Given the description of an element on the screen output the (x, y) to click on. 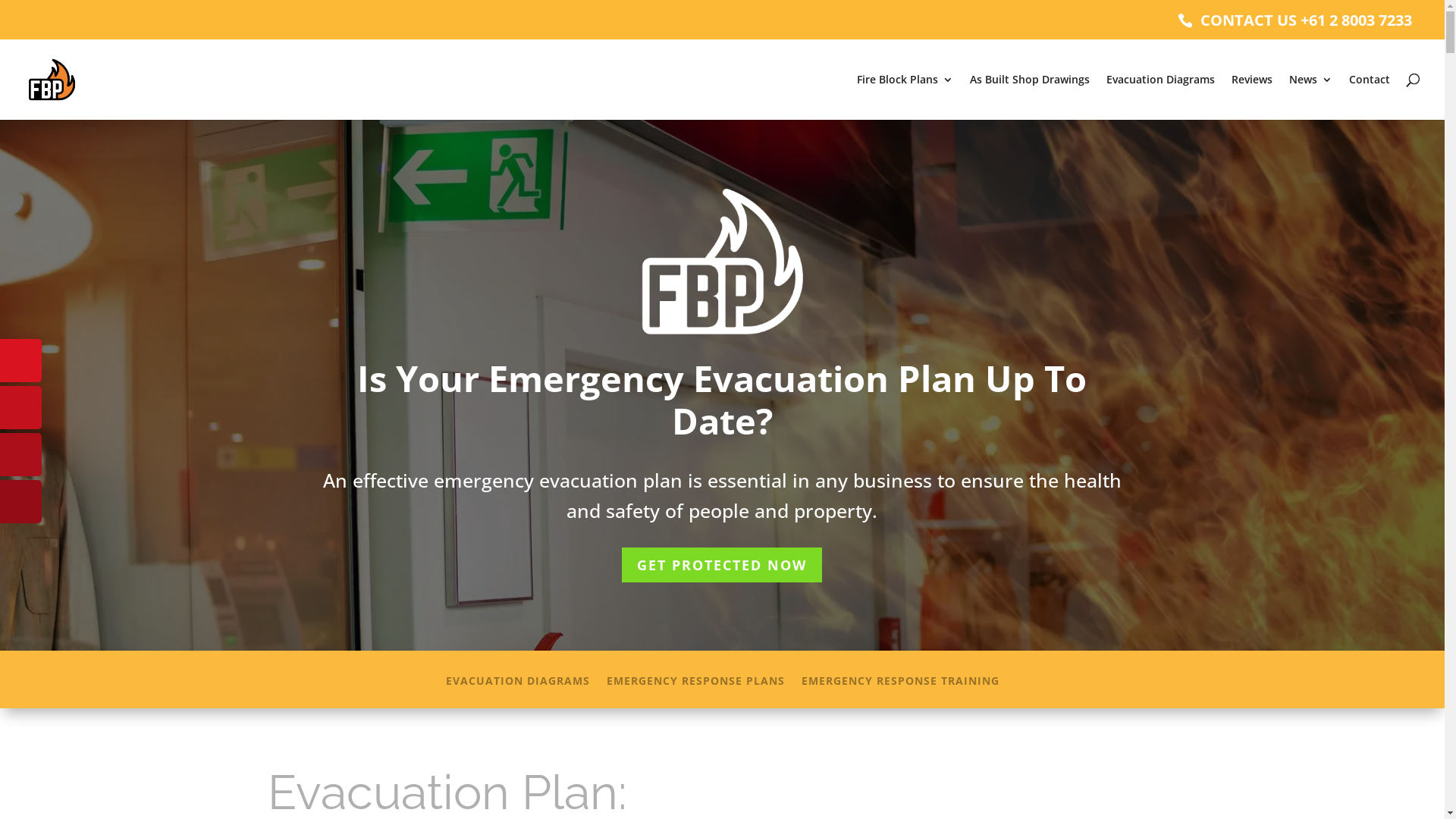
Contact Element type: text (927, 42)
About Element type: text (825, 42)
Blog Element type: text (874, 42)
Home Element type: text (772, 42)
